Given the description of an element on the screen output the (x, y) to click on. 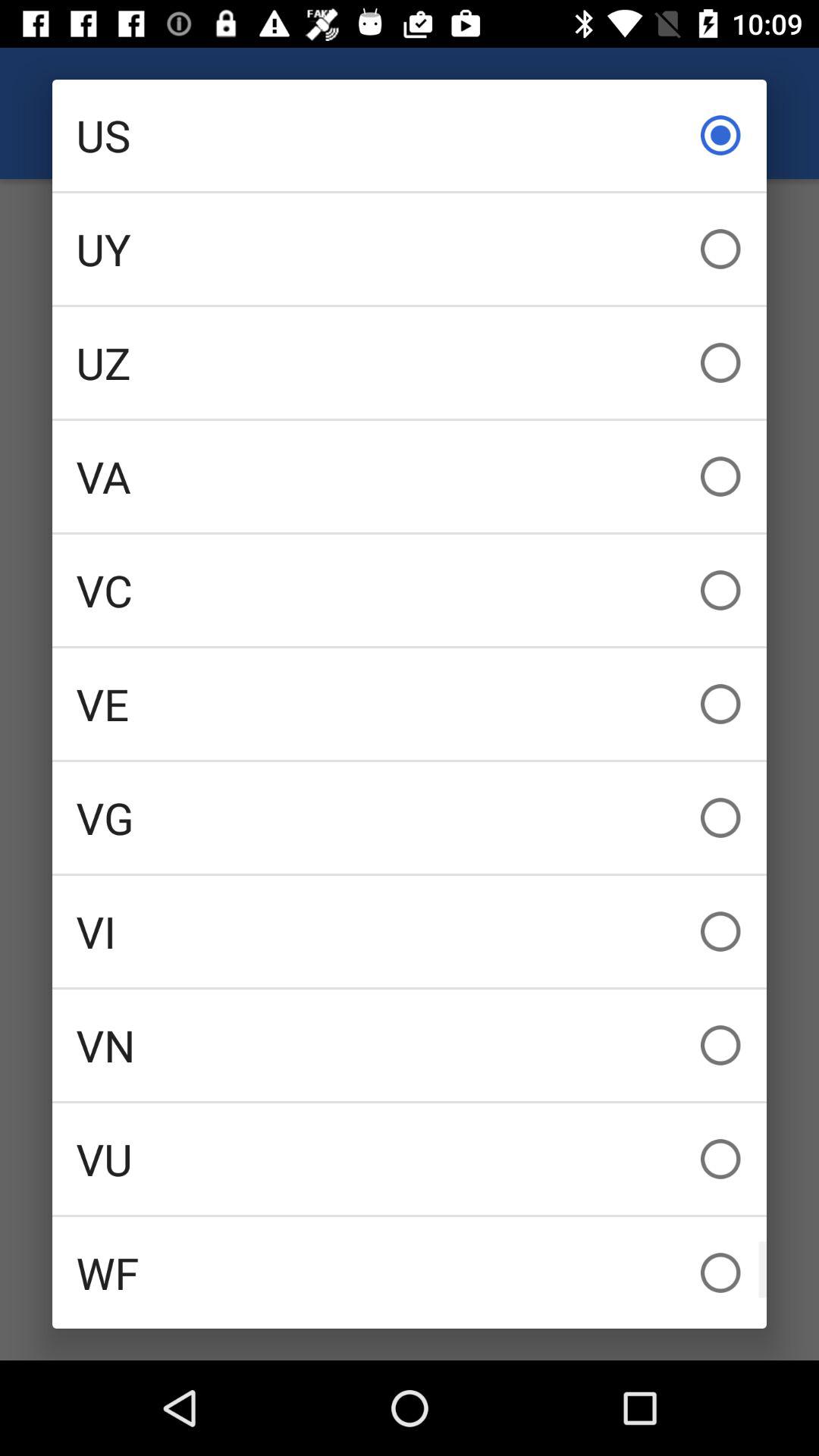
turn off the icon below the ve (409, 817)
